Given the description of an element on the screen output the (x, y) to click on. 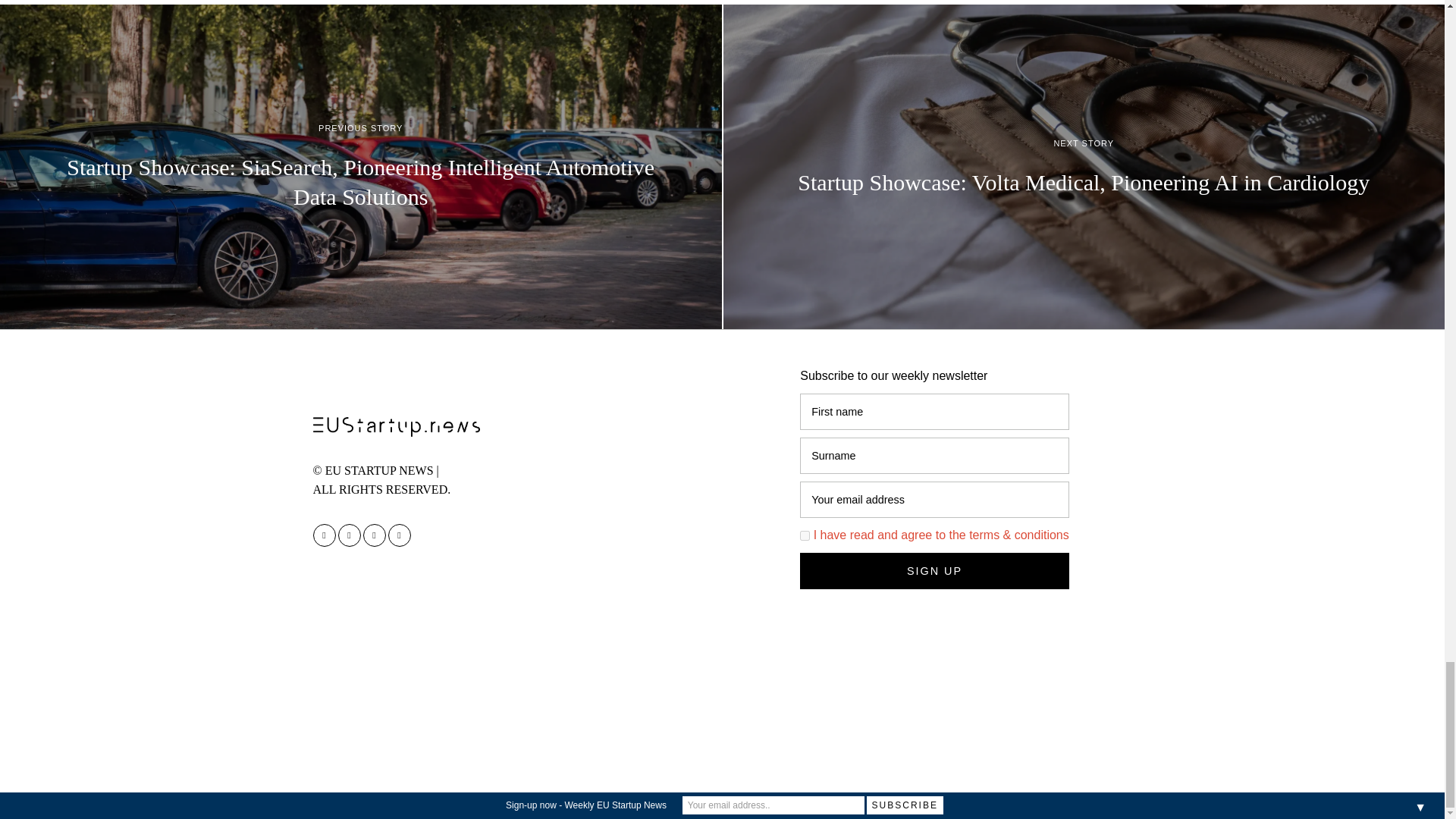
1 (804, 535)
Sign up (933, 570)
